Given the description of an element on the screen output the (x, y) to click on. 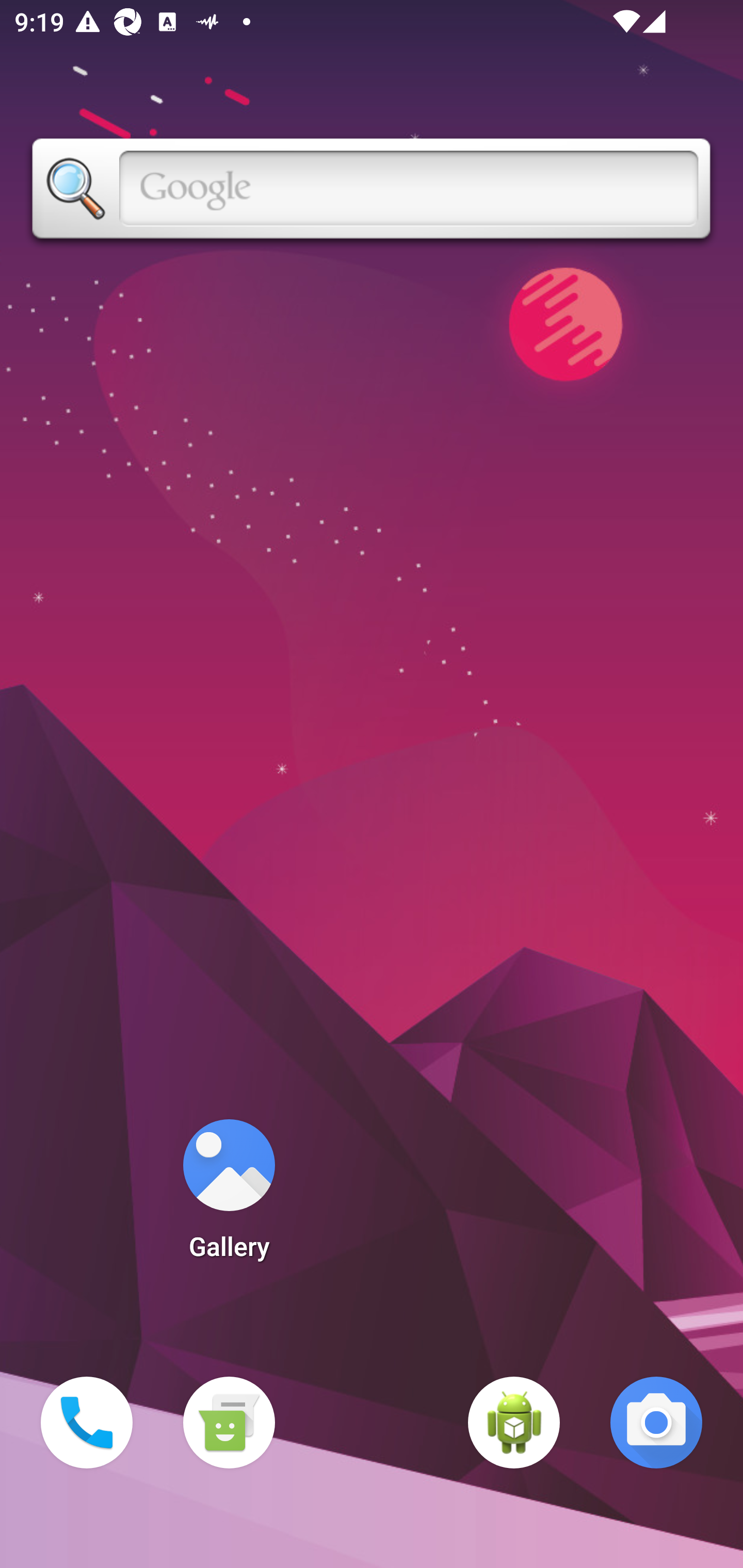
Gallery (228, 1195)
Phone (86, 1422)
Messaging (228, 1422)
WebView Browser Tester (513, 1422)
Camera (656, 1422)
